Given the description of an element on the screen output the (x, y) to click on. 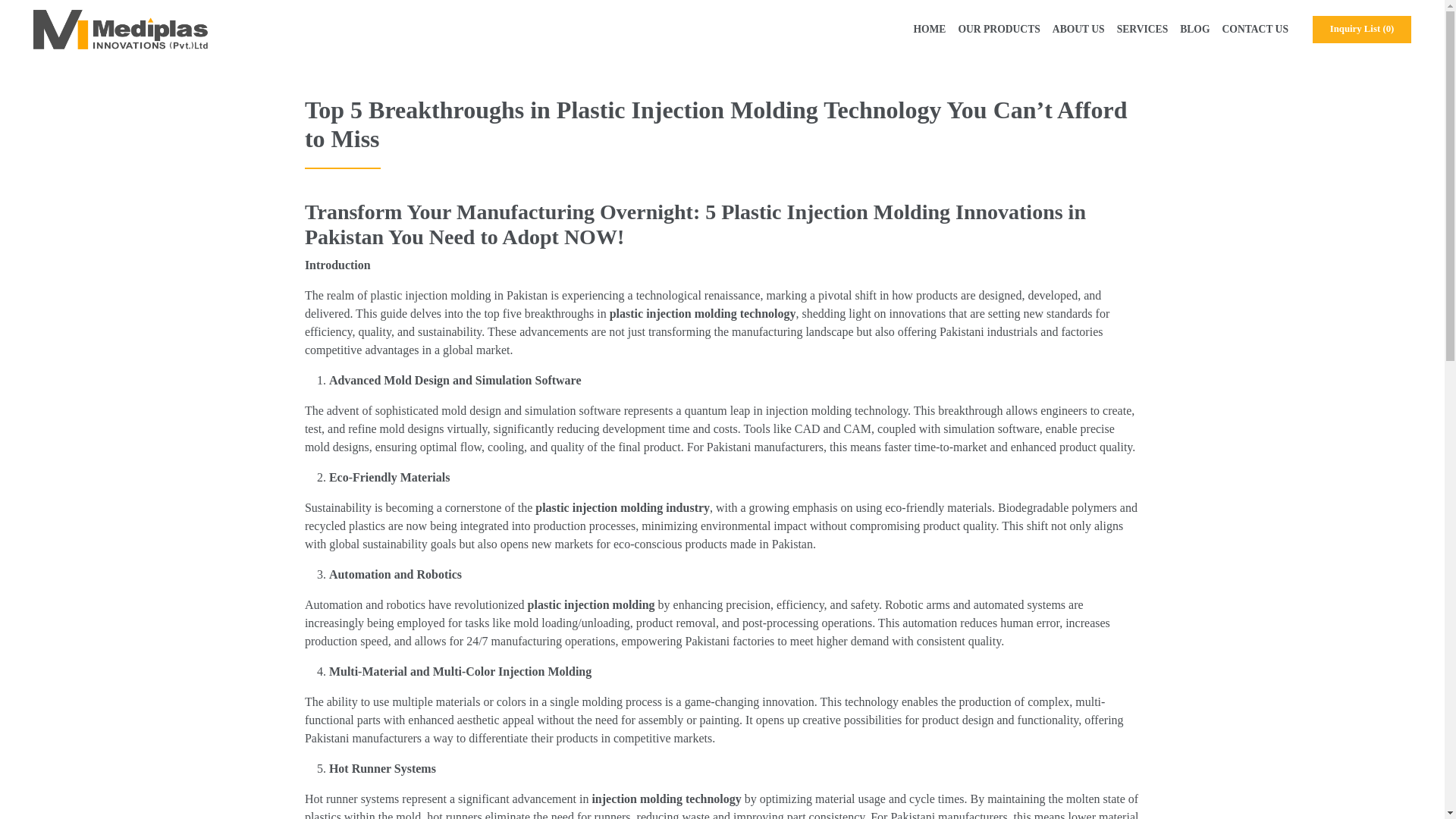
BLOG (1194, 29)
plastic injection molding industry (622, 507)
plastic injection molding (591, 604)
ABOUT US (1078, 29)
HOME (929, 29)
plastic injection molding technology (703, 313)
SERVICES (1142, 29)
CONTACT US (1255, 29)
OUR PRODUCTS (998, 29)
